Given the description of an element on the screen output the (x, y) to click on. 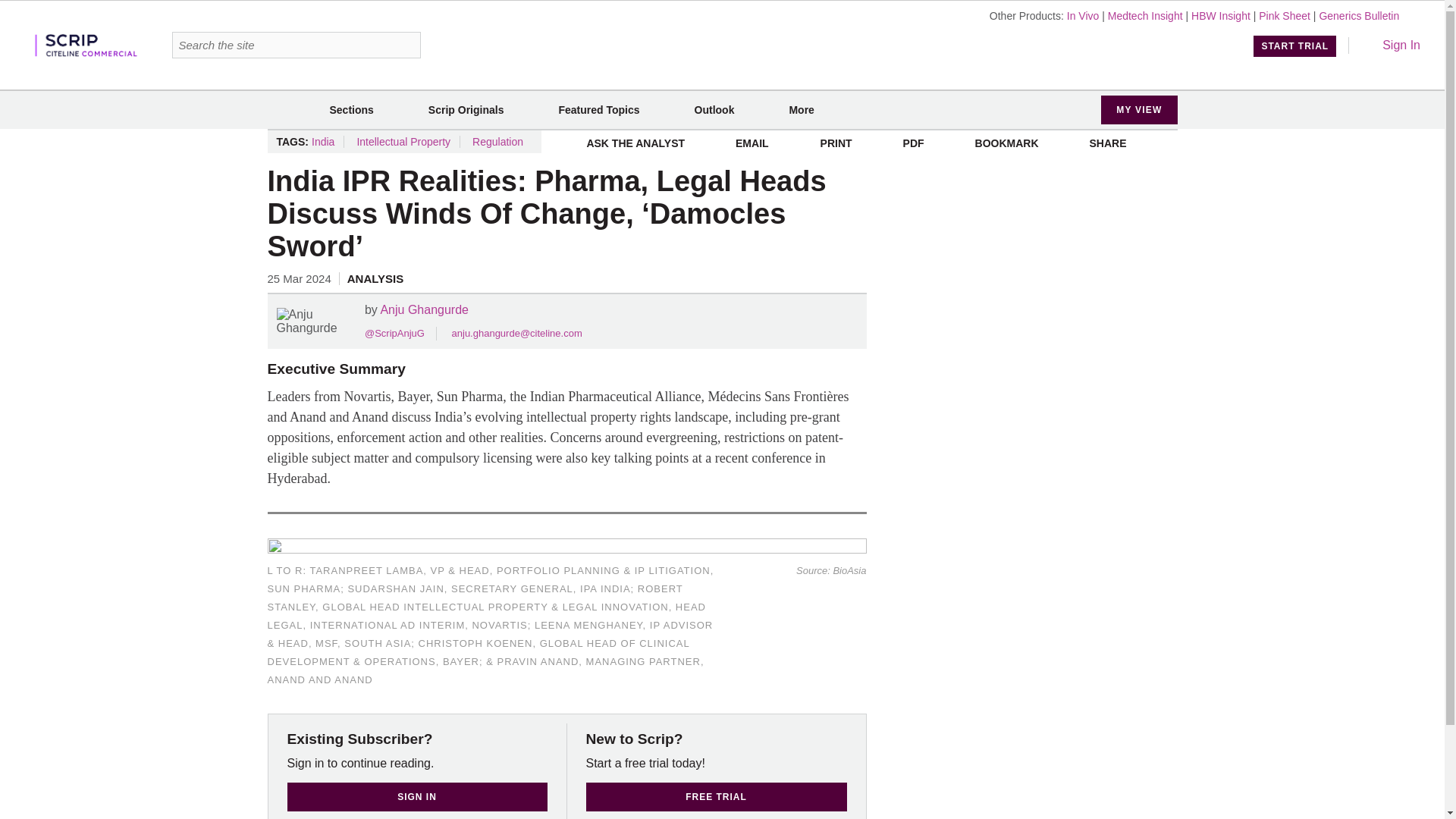
Pink Sheet (1284, 15)
START TRIAL (1294, 46)
Medtech Insight (1145, 15)
In Vivo (1083, 15)
HBW Insight (1220, 15)
Sign In (1391, 44)
Generics Bulletin (1359, 15)
